Given the description of an element on the screen output the (x, y) to click on. 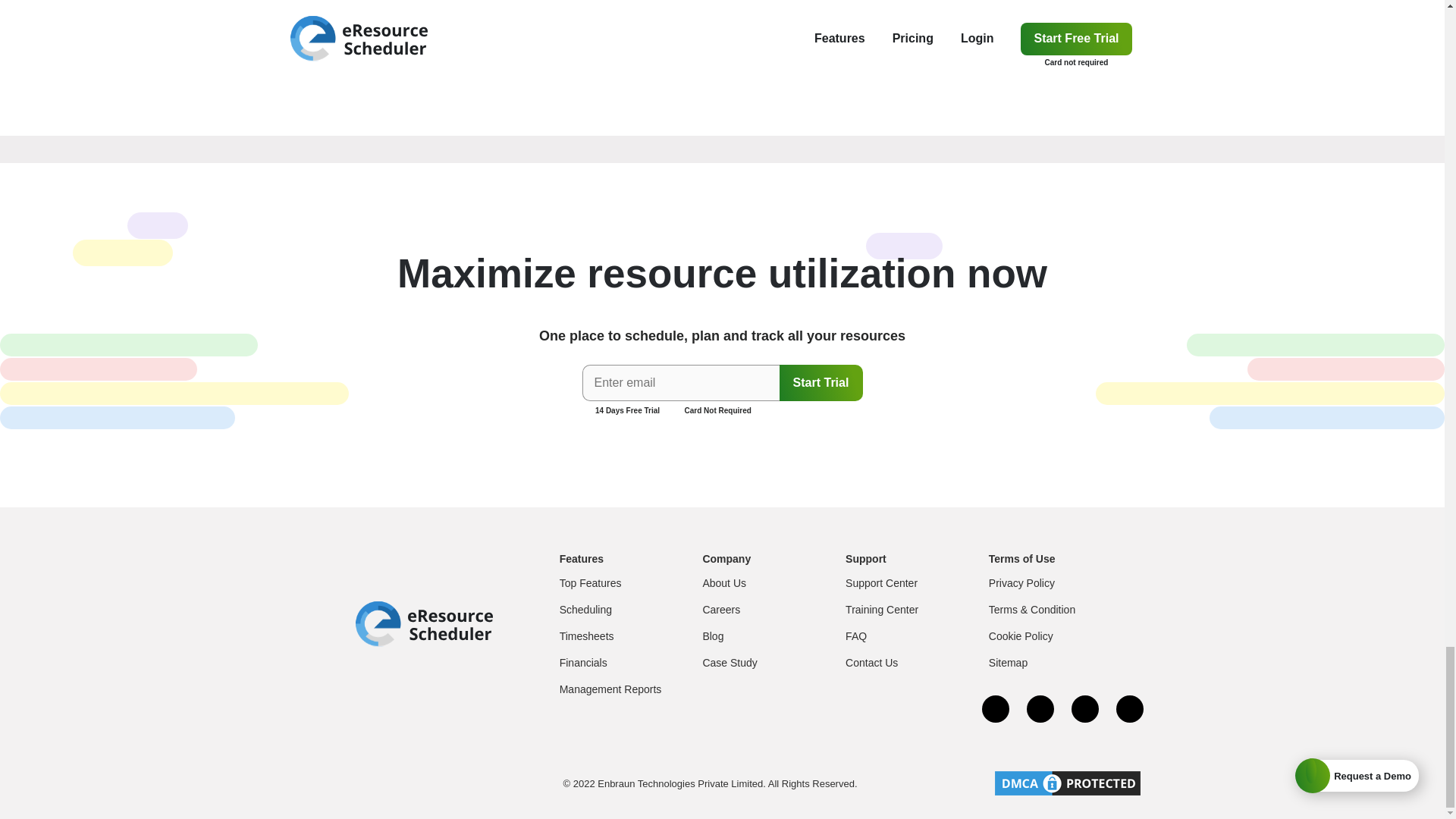
Start Trial (820, 382)
FAQ (855, 635)
Blog (712, 635)
Privacy Policy (1021, 582)
Careers (720, 609)
Top Features (590, 582)
Case Study (729, 662)
Financials (583, 662)
Support Center (881, 582)
Blog (712, 635)
